Given the description of an element on the screen output the (x, y) to click on. 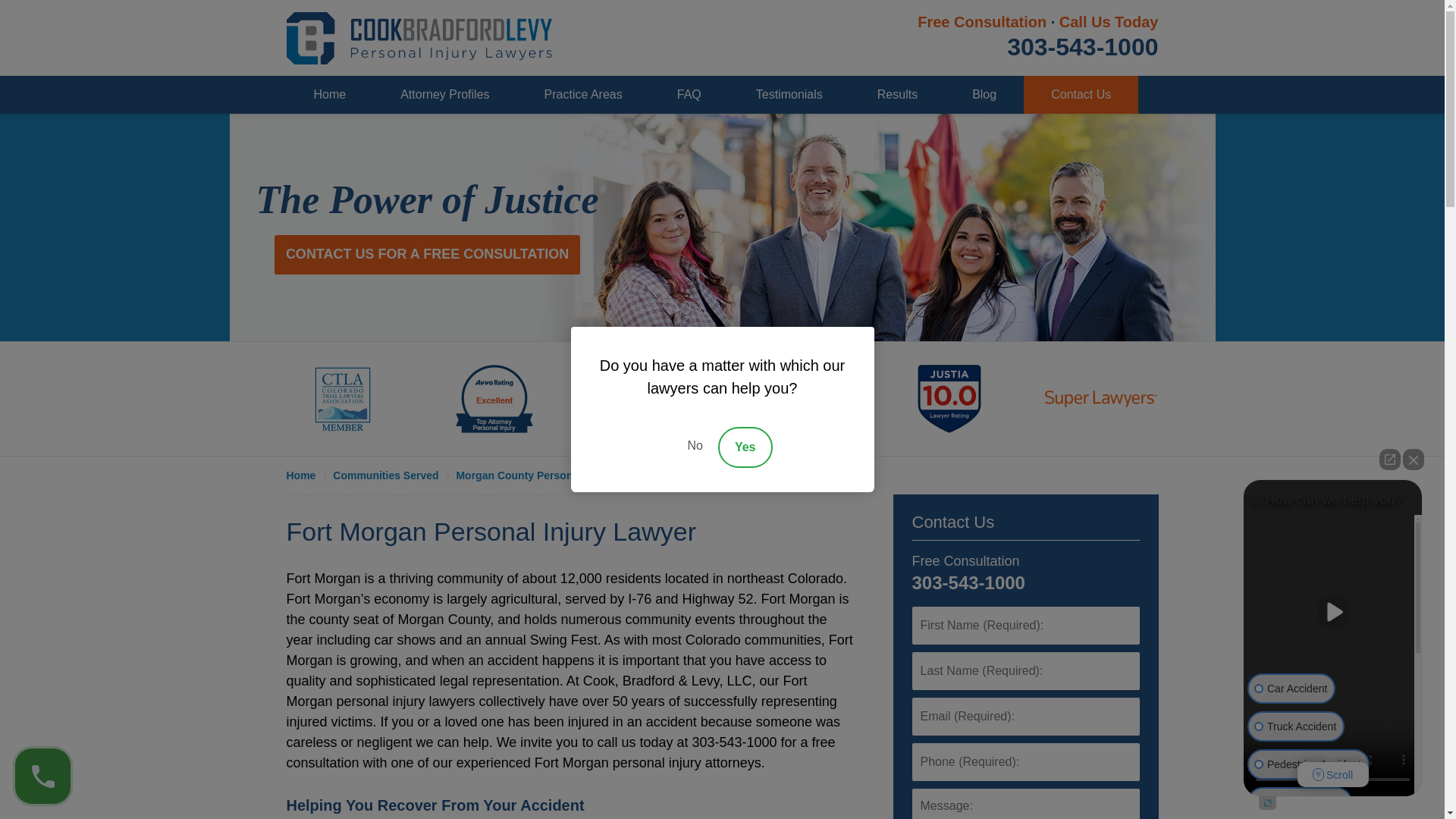
Contact Us (1080, 94)
CONTACT US FOR A FREE CONSULTATION (427, 254)
Home (309, 474)
FAQ (689, 94)
Testimonials (789, 94)
Back to Home (418, 38)
Blog (983, 94)
Practice Areas (582, 94)
Morgan County Personal Injury (542, 474)
Home (330, 94)
Communities Served (394, 474)
Results (897, 94)
Contact Us (952, 521)
Attorney Profiles (444, 94)
